Given the description of an element on the screen output the (x, y) to click on. 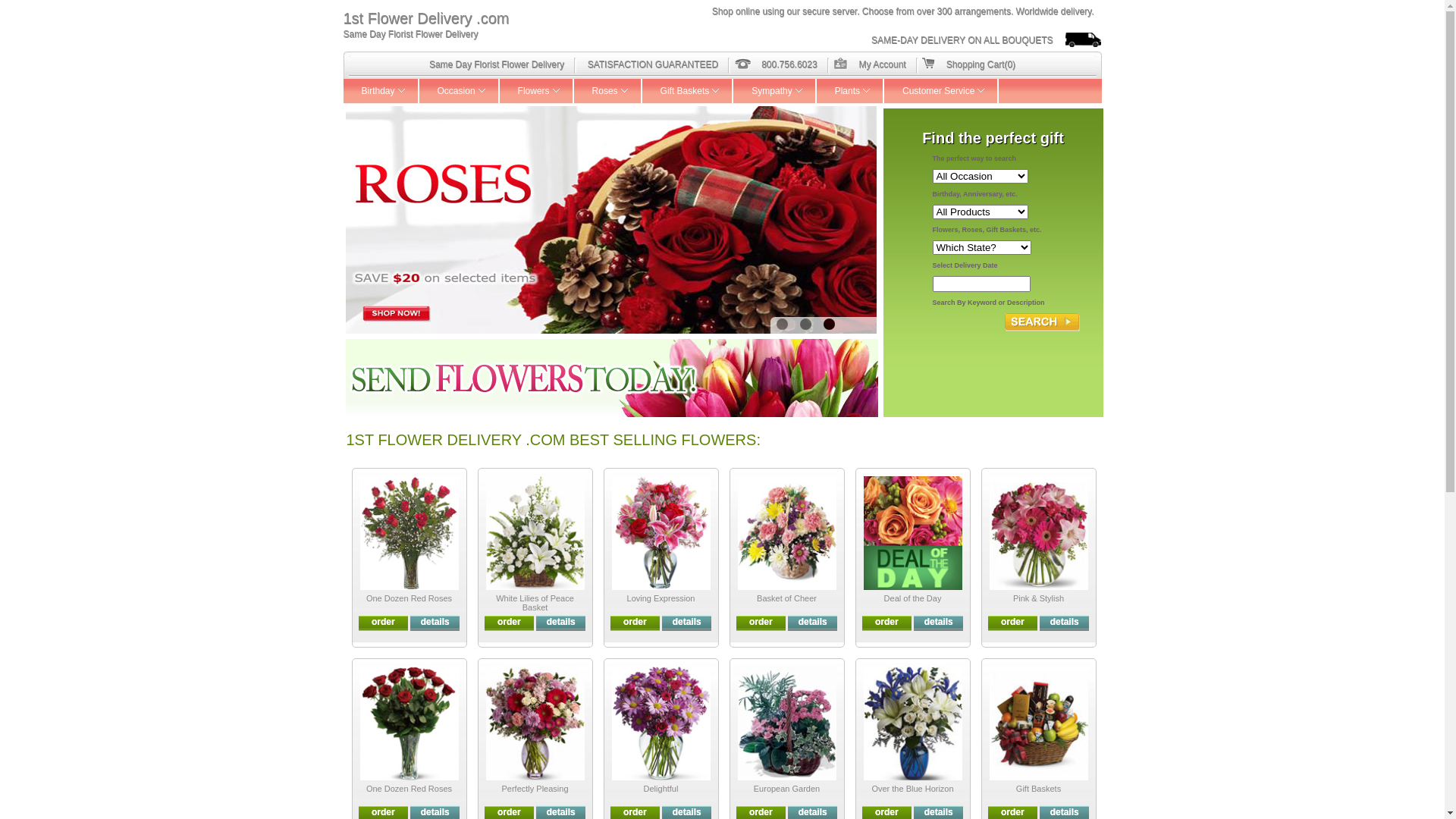
details Element type: text (434, 621)
Flowers Element type: text (536, 90)
Pink & Stylish Element type: text (1038, 597)
Birthday Element type: text (380, 90)
White Lilies of Peace Basket Element type: text (534, 602)
order Element type: text (382, 621)
Delightful Element type: text (660, 788)
Search Element type: text (1041, 322)
European Garden Element type: text (786, 788)
Gift Baskets Element type: text (1038, 788)
Basket of Cheer Element type: text (786, 597)
details Element type: text (560, 811)
details Element type: text (1063, 811)
details Element type: text (1063, 621)
details Element type: text (938, 811)
order Element type: text (760, 811)
Perfectly Pleasing Element type: text (534, 788)
One Dozen Red Roses Element type: text (408, 788)
details Element type: text (938, 621)
order Element type: text (508, 621)
Gift Baskets Element type: text (688, 90)
Deal of the Day Element type: text (912, 597)
Plants Element type: text (850, 90)
One Dozen Red Roses Element type: text (408, 597)
order Element type: text (508, 811)
order Element type: text (886, 811)
Customer Service Element type: text (941, 90)
Roses Element type: text (608, 90)
details Element type: text (434, 811)
Sympathy Element type: text (774, 90)
details Element type: text (686, 811)
order Element type: text (1012, 621)
order Element type: text (1012, 811)
order Element type: text (382, 811)
order Element type: text (760, 621)
details Element type: text (812, 811)
Over the Blue Horizon Element type: text (912, 788)
order Element type: text (886, 621)
Loving Expression Element type: text (661, 597)
details Element type: text (686, 621)
details Element type: text (812, 621)
details Element type: text (560, 621)
order Element type: text (634, 811)
order Element type: text (634, 621)
Occasion Element type: text (459, 90)
